Given the description of an element on the screen output the (x, y) to click on. 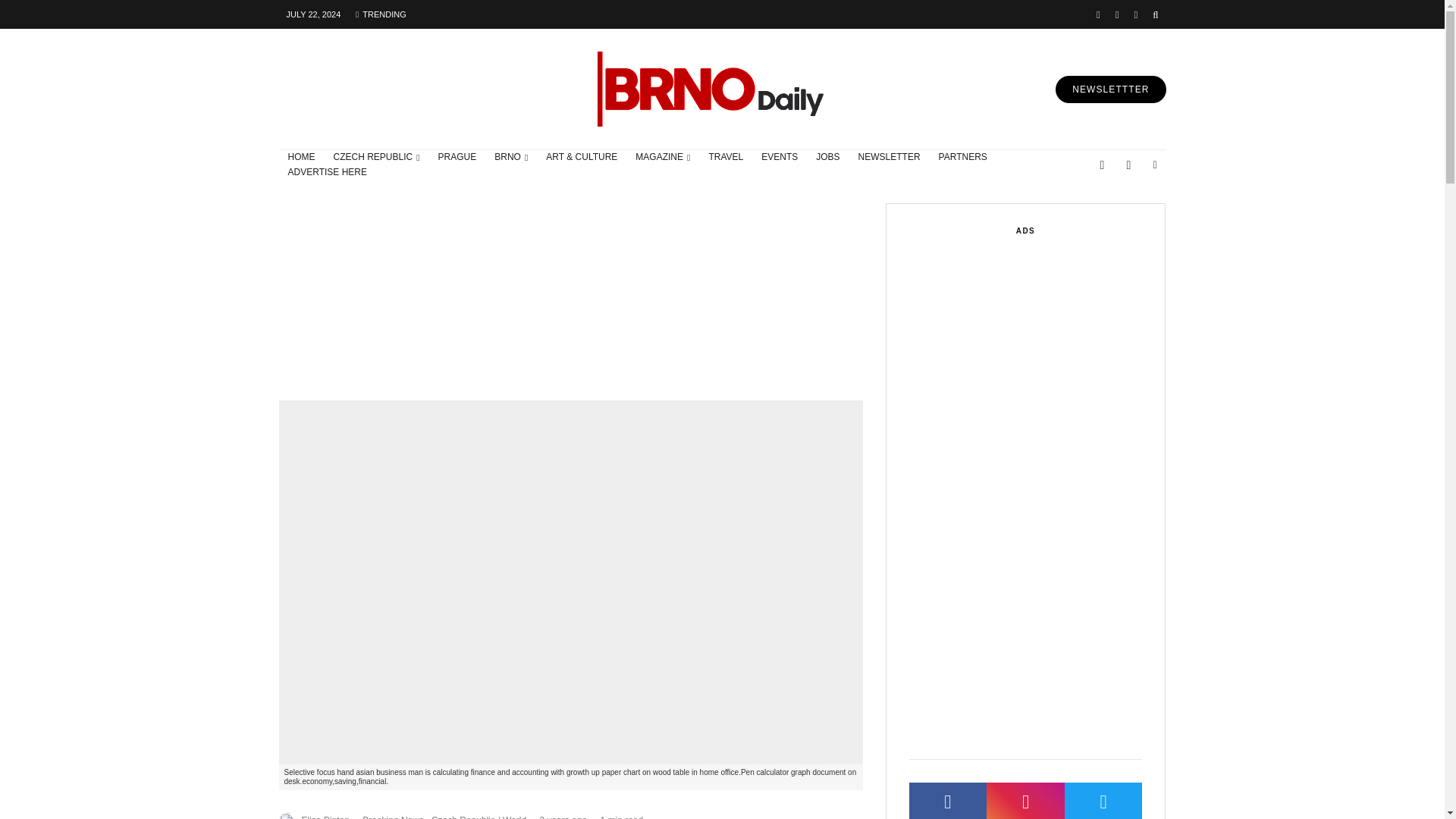
NEWSLETTTER (1110, 89)
HOME (301, 157)
TRENDING (380, 14)
PRAGUE (457, 157)
CZECH REPUBLIC (376, 157)
